Given the description of an element on the screen output the (x, y) to click on. 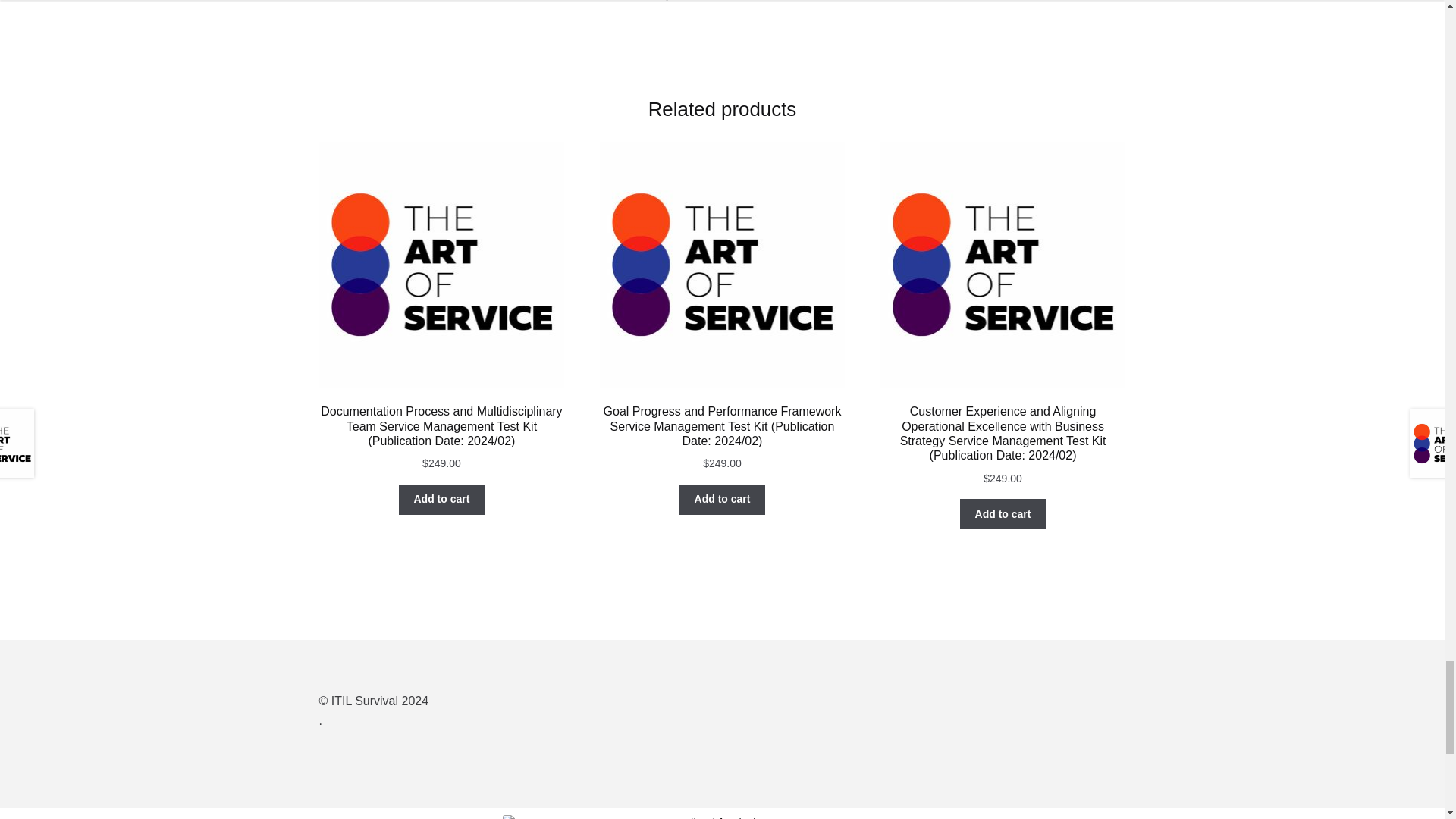
Add to cart (1002, 513)
Add to cart (441, 499)
Add to cart (722, 499)
